Given the description of an element on the screen output the (x, y) to click on. 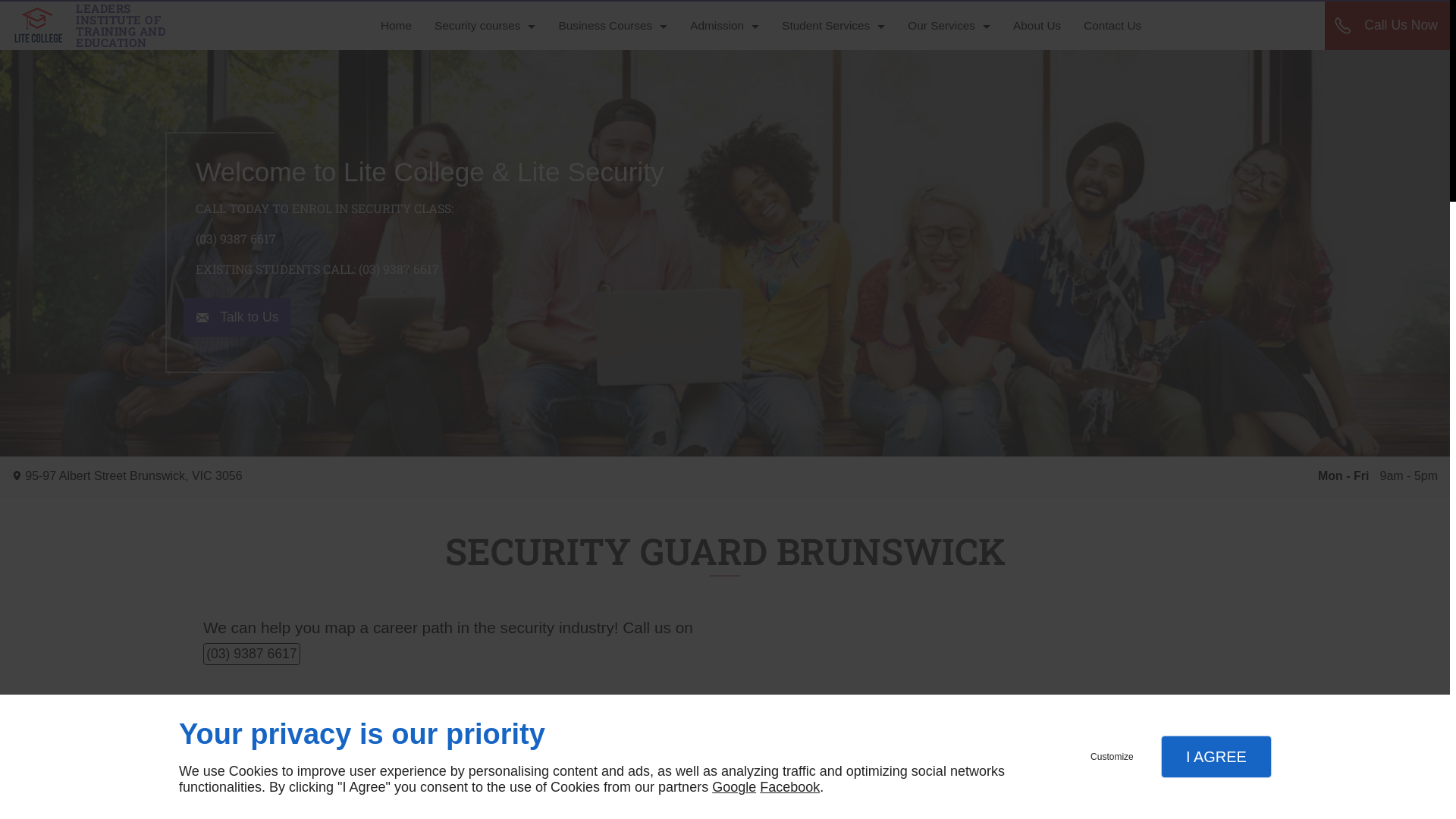
Student Services Element type: text (833, 25)
Contact Us Element type: text (1112, 25)
(03) 9387 6617 Element type: text (251, 653)
Home Element type: text (396, 25)
LEADERS INSTITUTE OF TRAINING AND EDUCATION Element type: text (100, 25)
Our Services Element type: text (948, 25)
About Us Element type: text (1036, 25)
Google Element type: text (734, 786)
Facebook Element type: text (789, 786)
Talk to Us Element type: text (236, 317)
Security courses Element type: text (485, 25)
Call Us Now Element type: text (1386, 25)
Admission Element type: text (724, 25)
Business Courses Element type: text (612, 25)
